Given the description of an element on the screen output the (x, y) to click on. 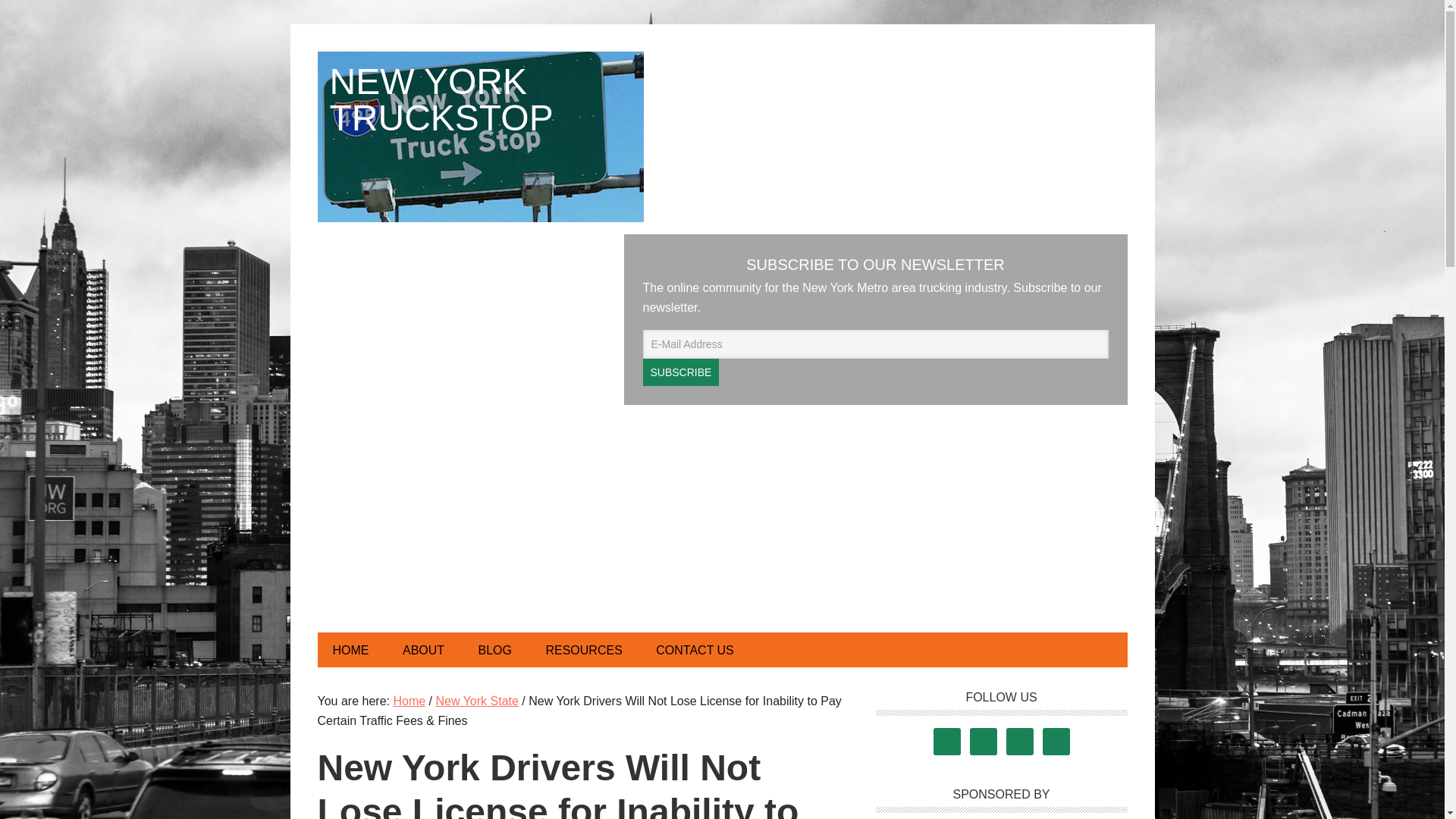
Home (409, 700)
CONTACT US (694, 649)
NEW YORK TRUCKSTOP (480, 136)
HOME (350, 649)
ABOUT (423, 649)
New York State (476, 700)
RESOURCES (583, 649)
BLOG (495, 649)
Subscribe (681, 371)
Subscribe (681, 371)
